Given the description of an element on the screen output the (x, y) to click on. 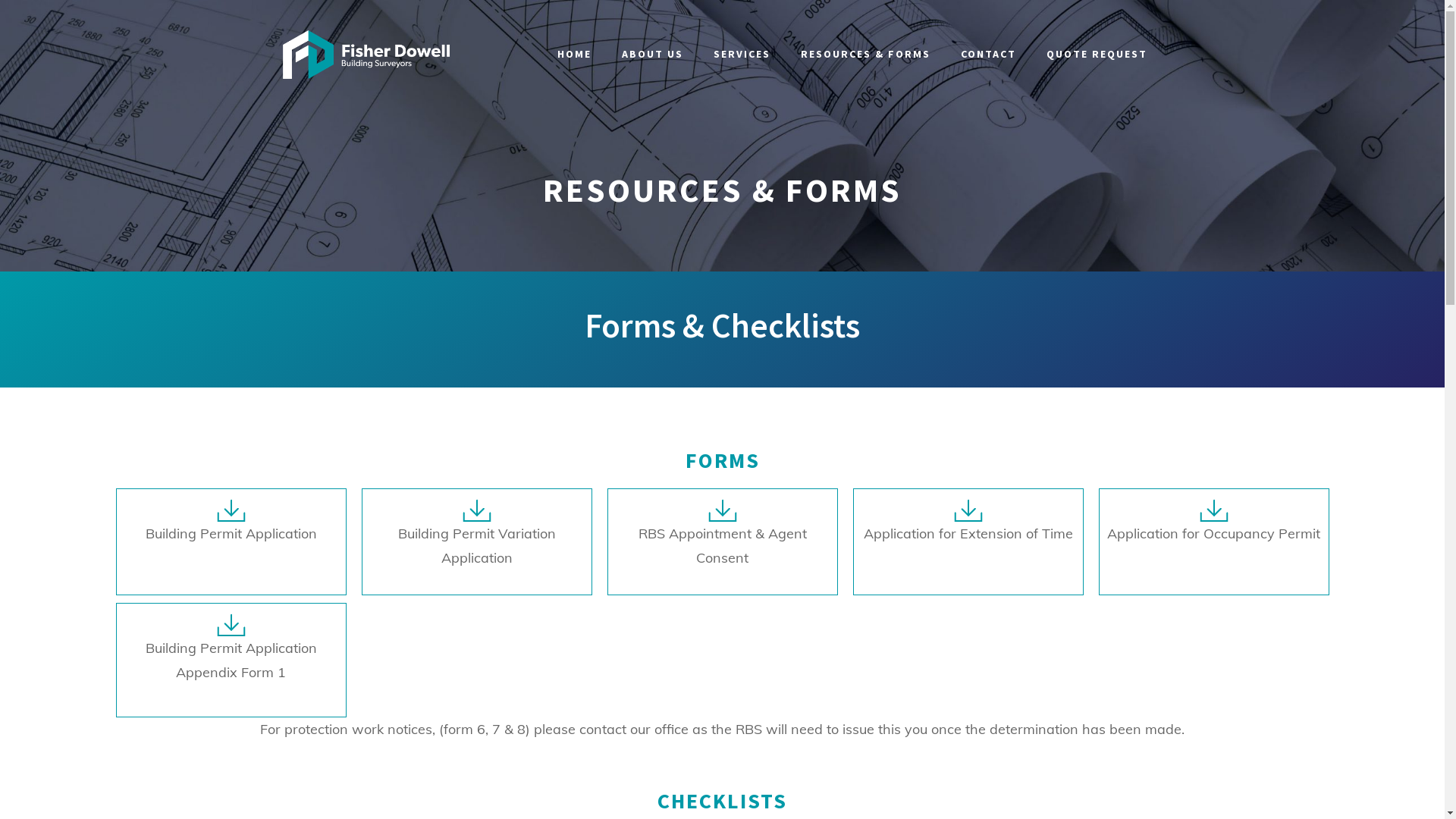
Fisher Dowell Building Surveyors Element type: hover (365, 54)
CONTACT Element type: text (987, 54)
Fisher Dowell Building Surveyors Element type: hover (365, 52)
SERVICES Element type: text (740, 54)
RESOURCES & FORMS Element type: text (865, 54)
ABOUT US Element type: text (652, 54)
HOME Element type: text (573, 54)
QUOTE REQUEST Element type: text (1096, 54)
